Given the description of an element on the screen output the (x, y) to click on. 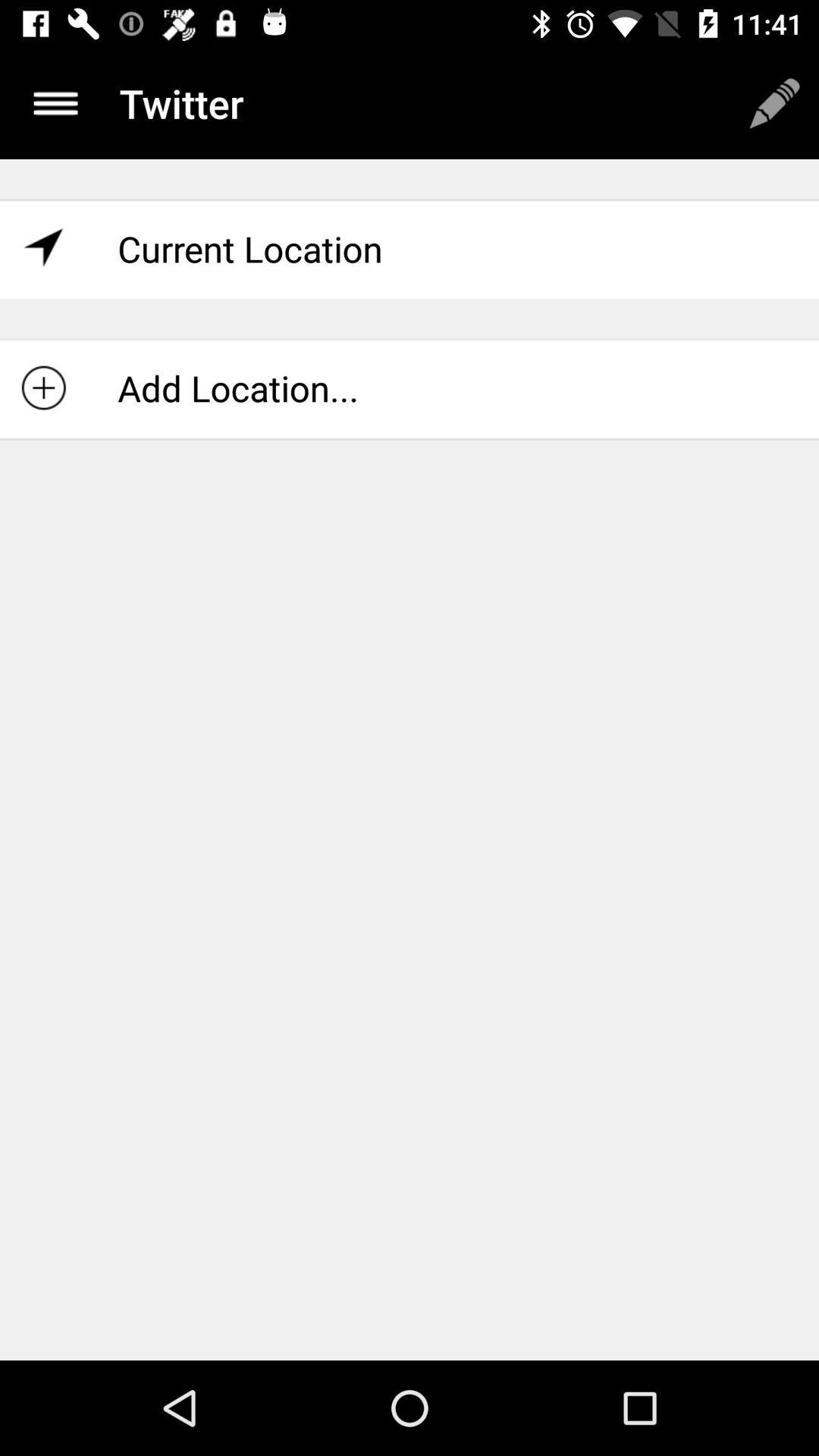
choose item below current location icon (409, 387)
